Given the description of an element on the screen output the (x, y) to click on. 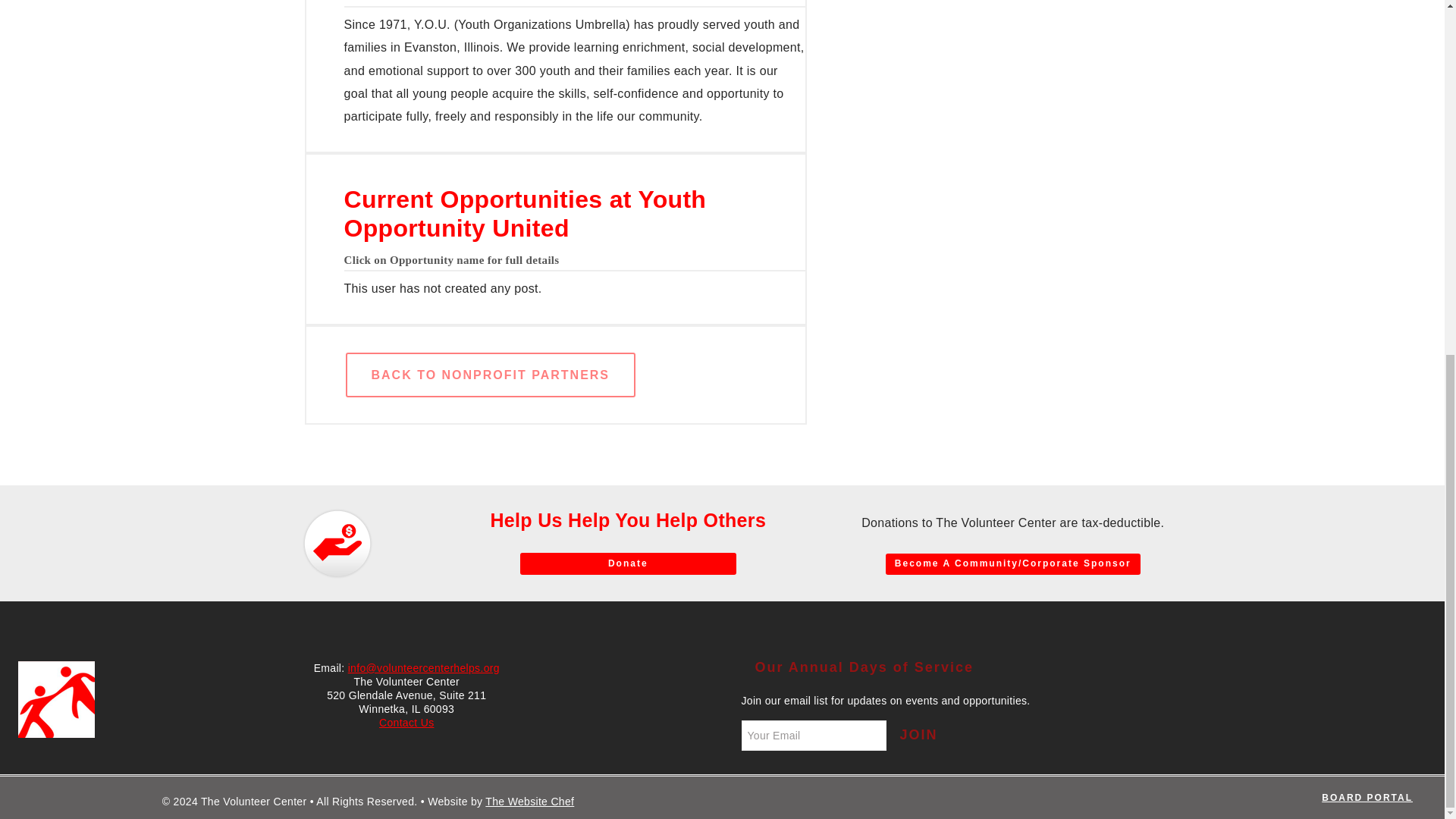
Join (917, 735)
BACK TO NONPROFIT PARTNERS (490, 374)
BACK TO NONPROFIT PARTNERS (491, 375)
Donate (627, 563)
